Given the description of an element on the screen output the (x, y) to click on. 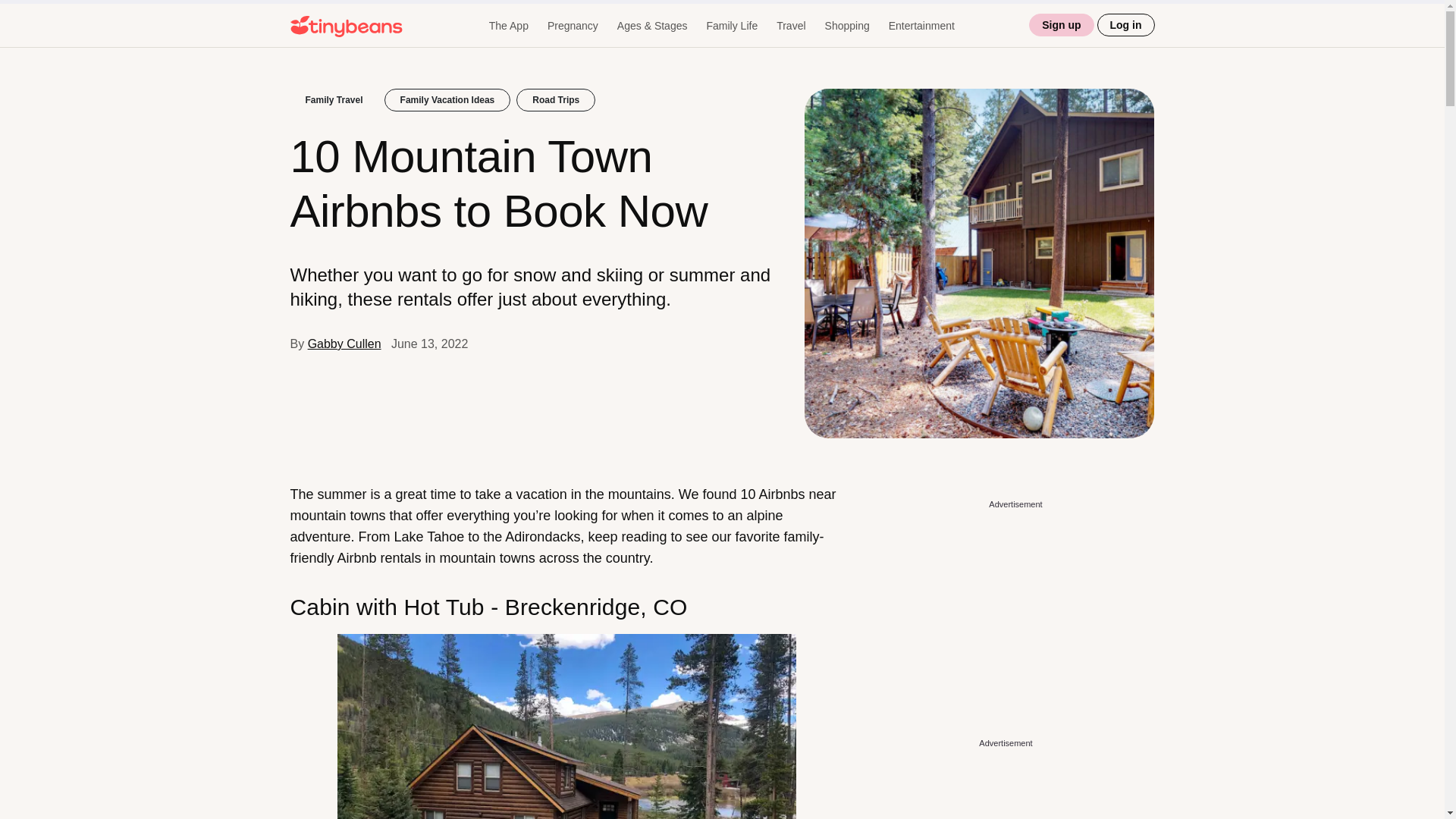
Posts by Gabby Cullen (344, 343)
The App (508, 25)
Pregnancy (572, 25)
Family Life (731, 25)
